Given the description of an element on the screen output the (x, y) to click on. 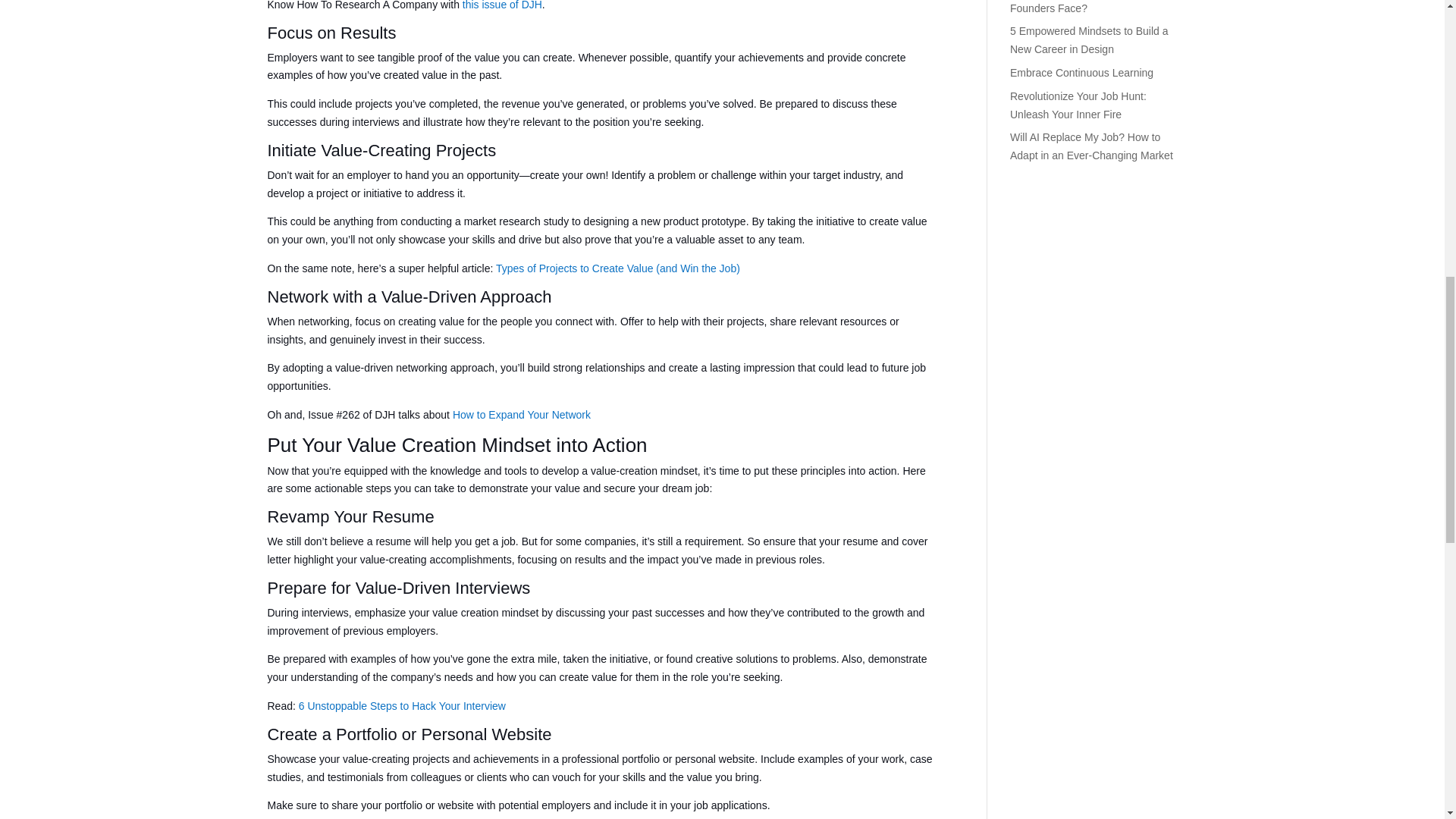
How to Expand Your Network (521, 414)
6 Unstoppable Steps to Hack Your Interview (401, 705)
Embrace Continuous Learning (1081, 72)
5 Empowered Mindsets to Build a New Career in Design (1089, 40)
Revolutionize Your Job Hunt: Unleash Your Inner Fire (1078, 105)
this issue of DJH (502, 5)
